Given the description of an element on the screen output the (x, y) to click on. 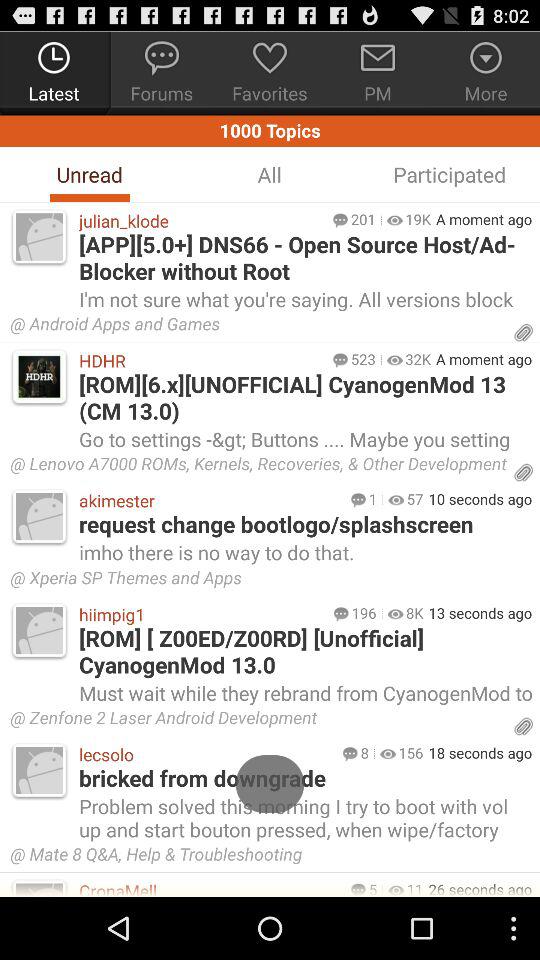
launch the icon next to a moment ago icon (417, 359)
